Given the description of an element on the screen output the (x, y) to click on. 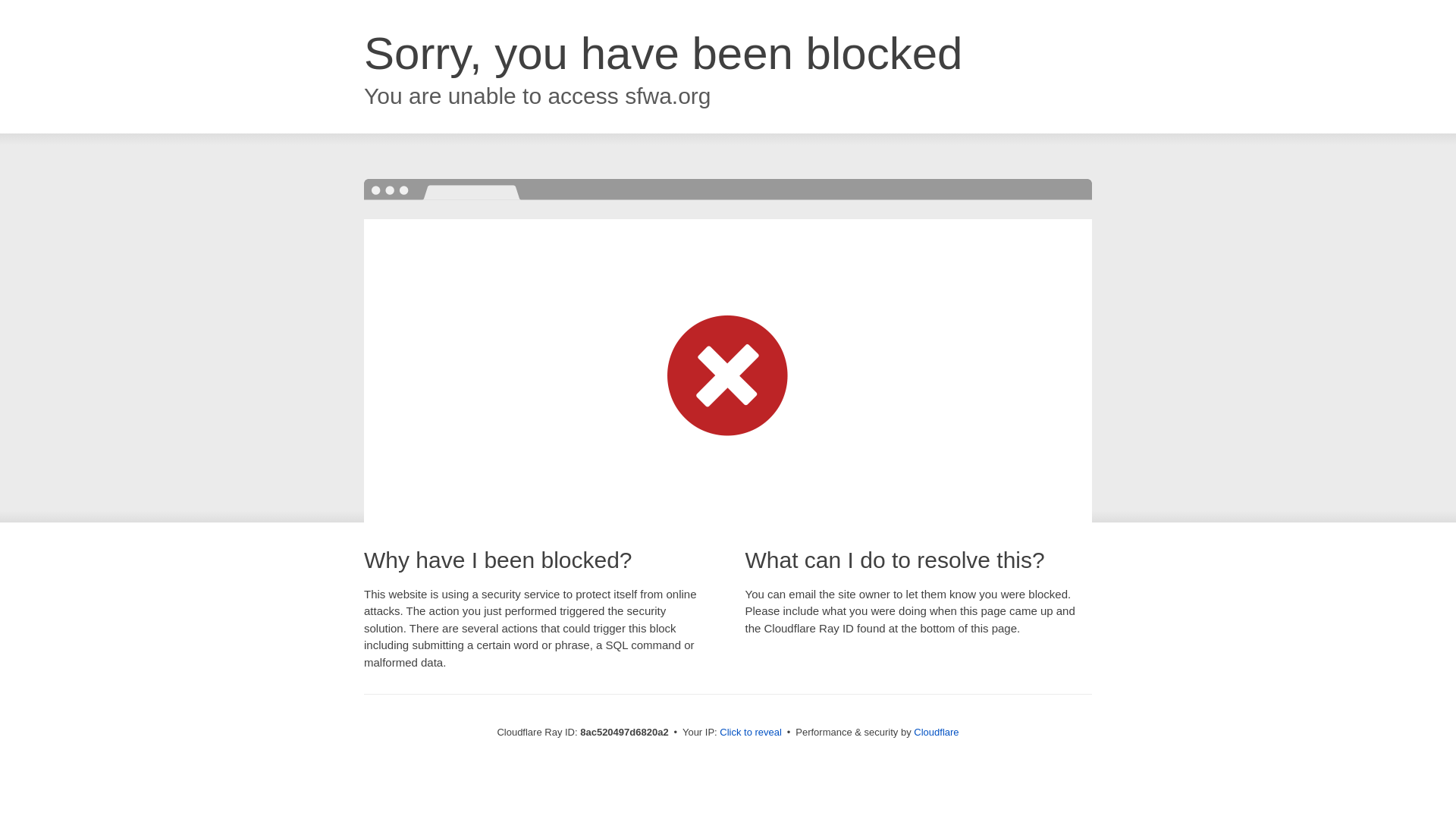
Cloudflare (936, 731)
Click to reveal (750, 732)
